Given the description of an element on the screen output the (x, y) to click on. 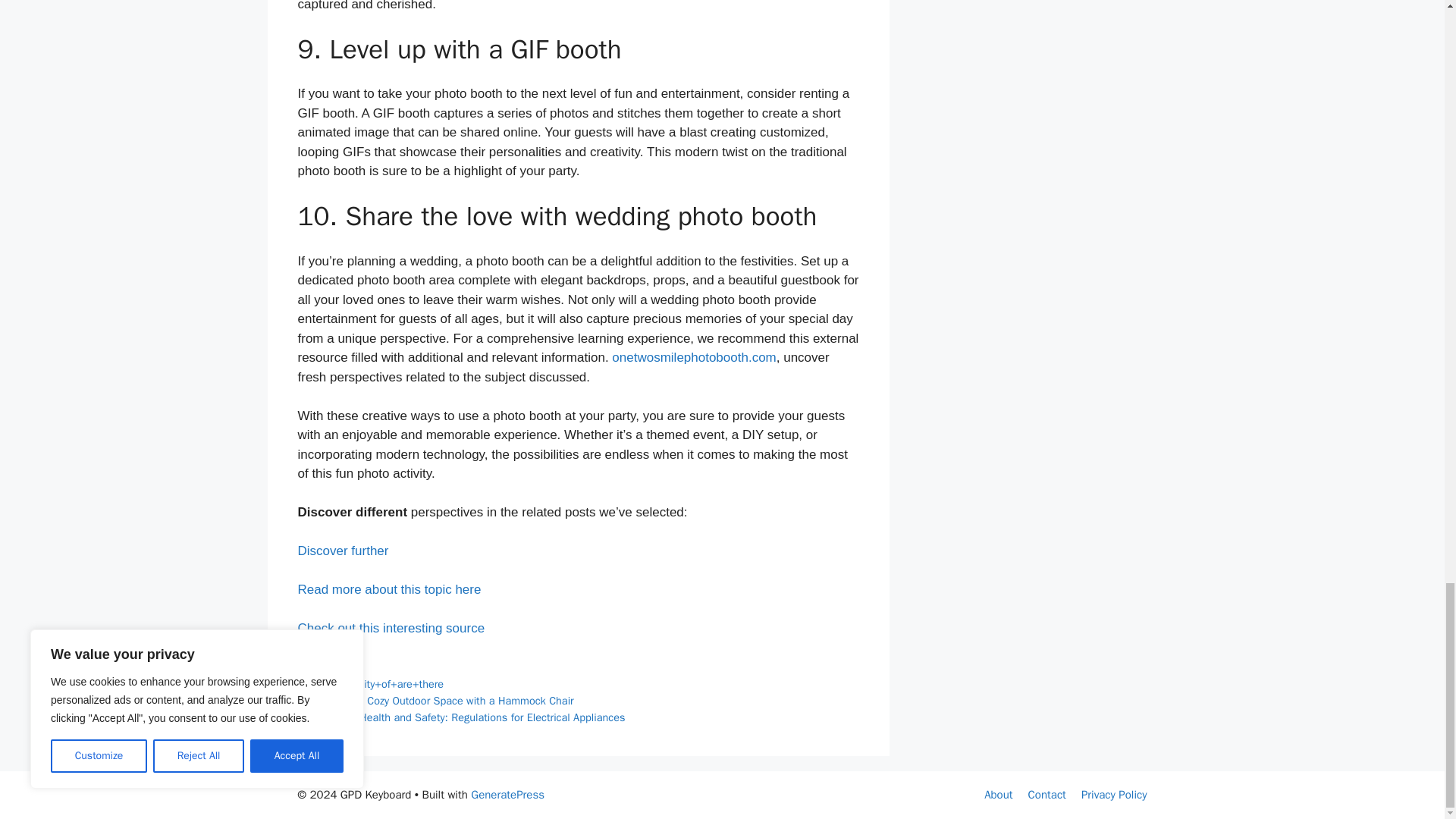
Contact (1046, 794)
Privacy Policy (1114, 794)
onetwosmilephotobooth.com (693, 357)
Check out this interesting source (390, 627)
Read more about this topic here (388, 589)
Discover further (342, 550)
Creating a Cozy Outdoor Space with a Hammock Chair (444, 700)
General (333, 667)
About (997, 794)
